Given the description of an element on the screen output the (x, y) to click on. 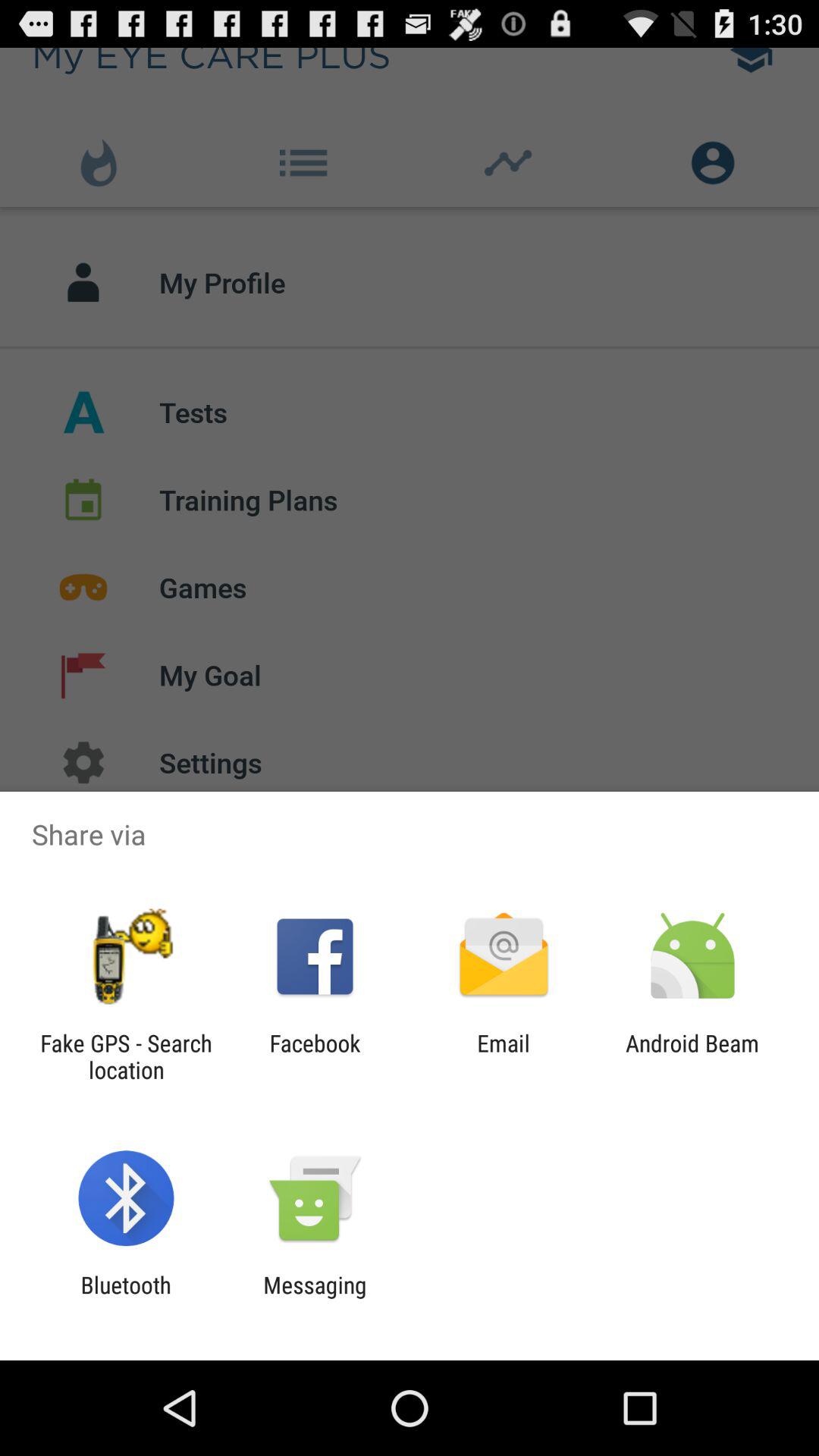
open android beam at the bottom right corner (692, 1056)
